Given the description of an element on the screen output the (x, y) to click on. 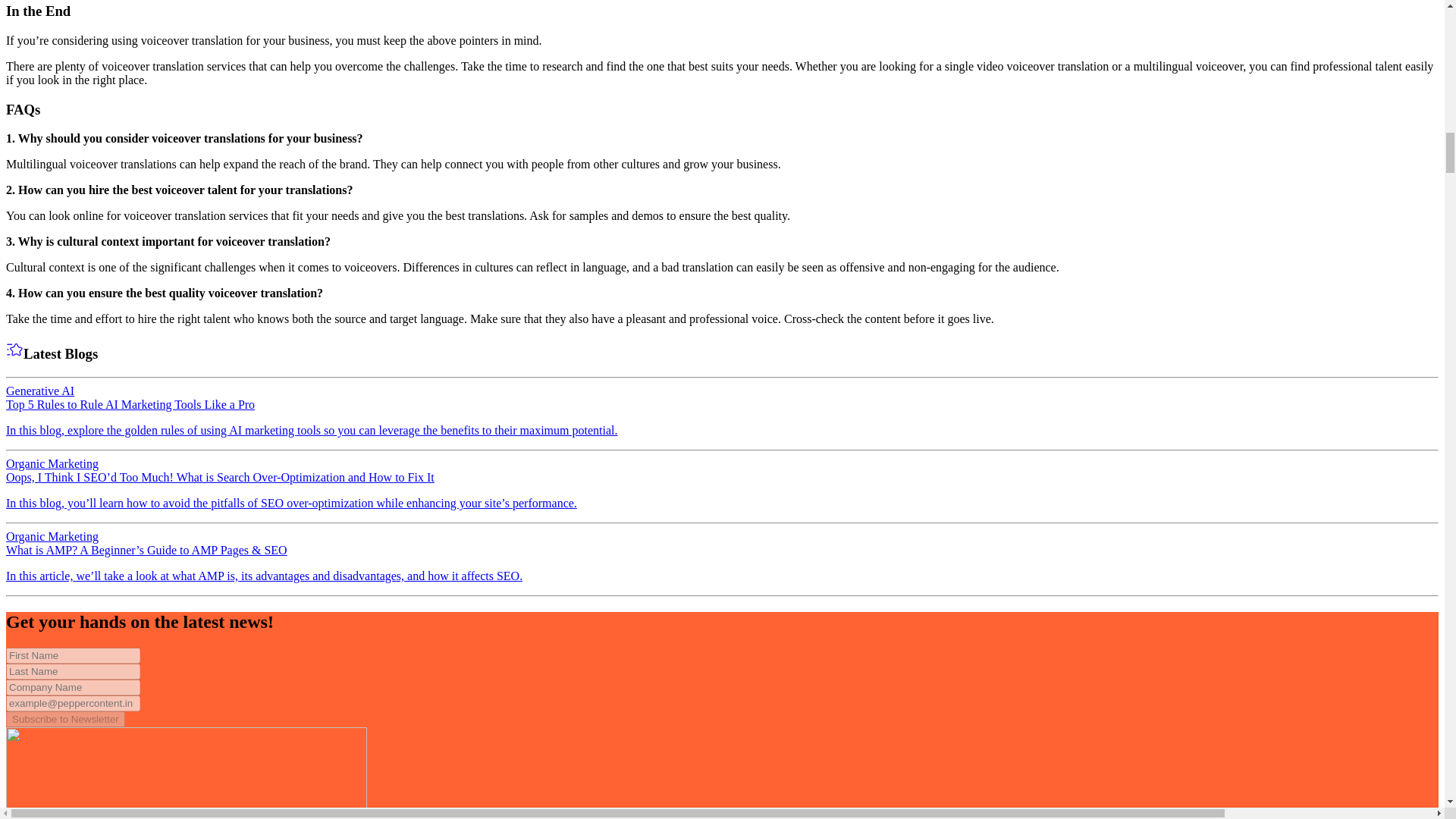
Subscribe to Newsletter (65, 719)
